Given the description of an element on the screen output the (x, y) to click on. 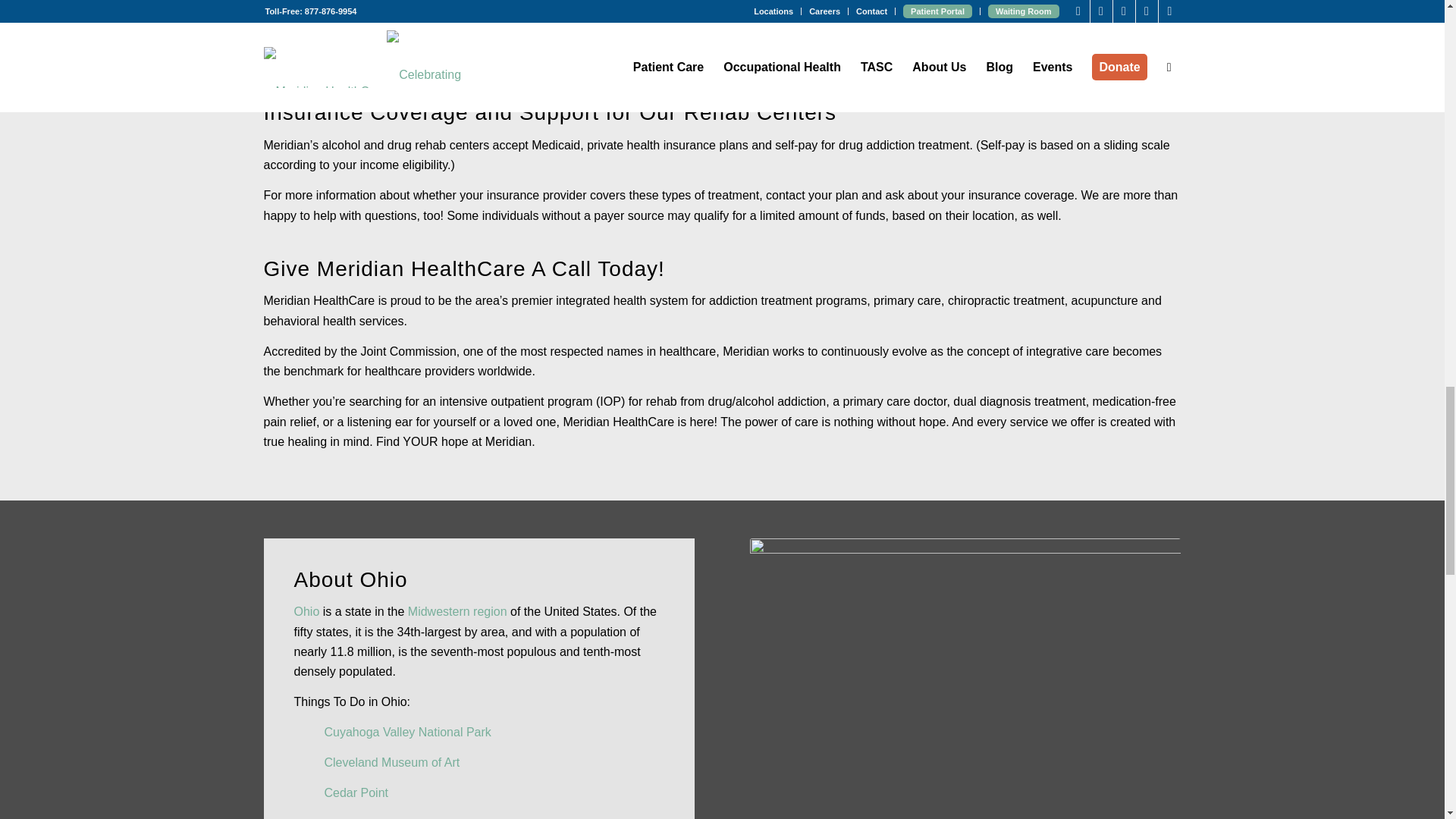
newton-falls (964, 678)
